Given the description of an element on the screen output the (x, y) to click on. 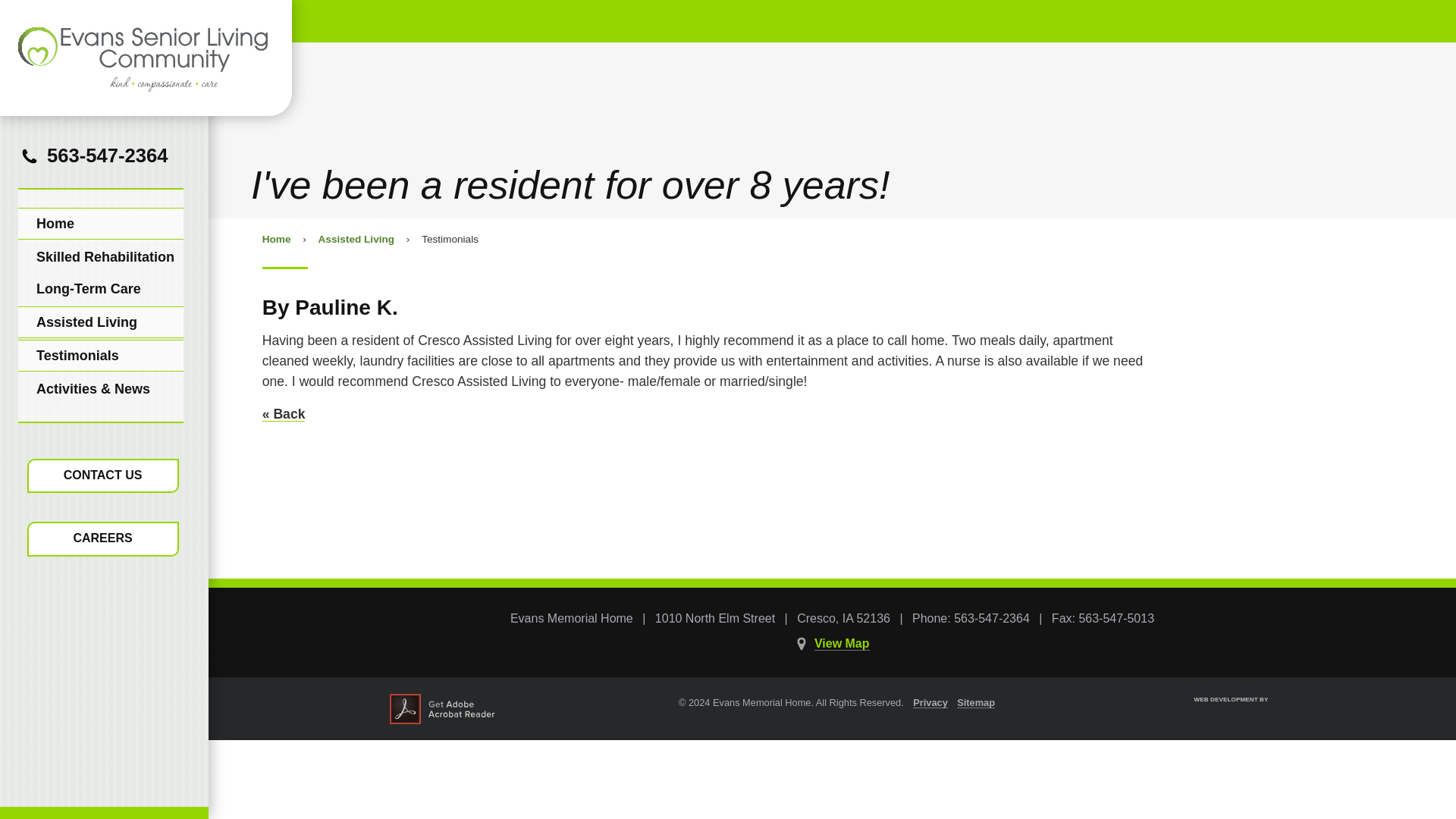
Long-Term Care (100, 288)
Assisted Living (100, 322)
Home (276, 238)
View Map (841, 643)
Assisted Living (356, 238)
CONTACT US (103, 475)
CAREERS (103, 538)
Skilled Rehabilitation (100, 256)
Home (100, 223)
Testimonials (100, 355)
